Given the description of an element on the screen output the (x, y) to click on. 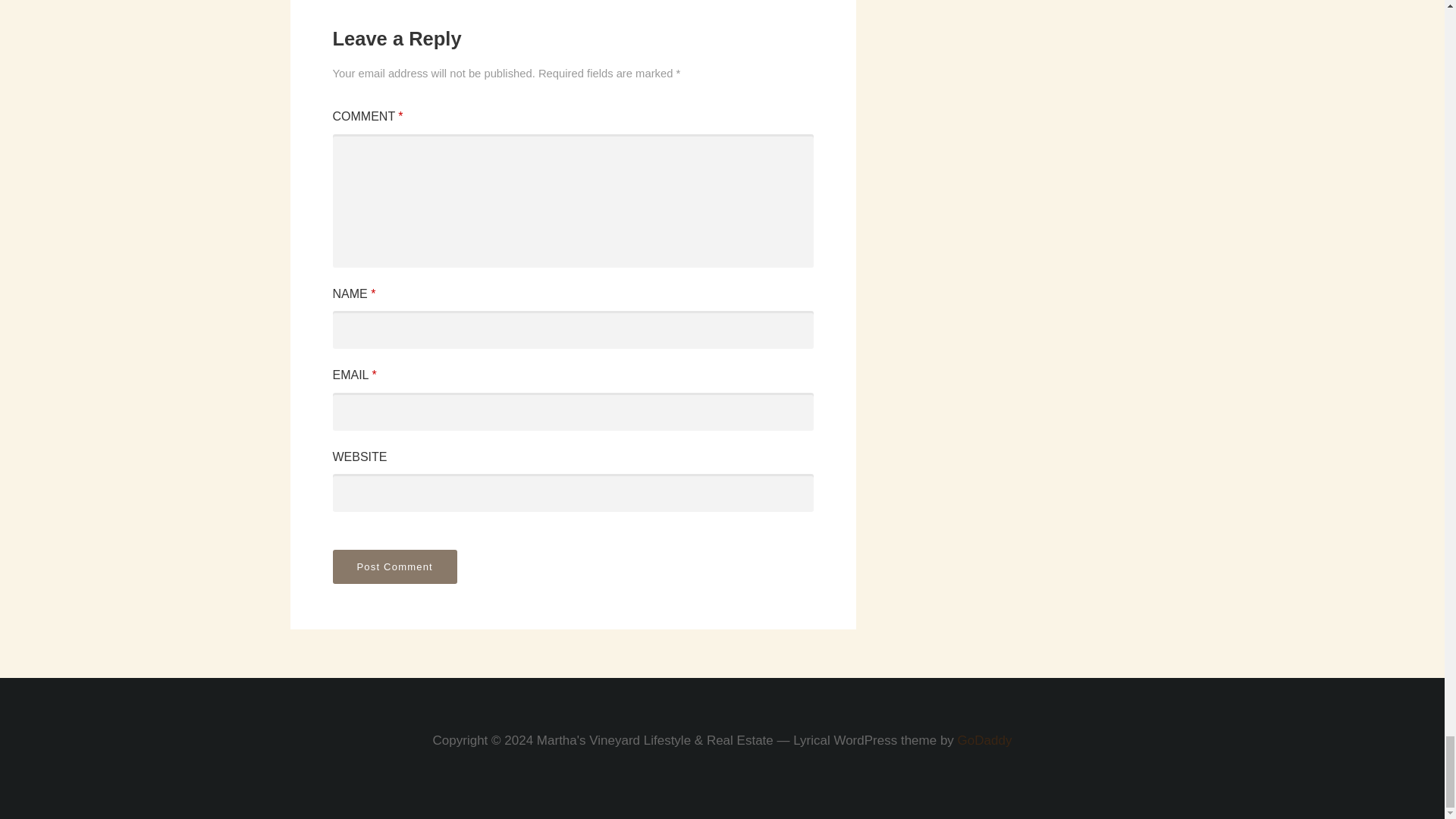
Post Comment (394, 566)
